Given the description of an element on the screen output the (x, y) to click on. 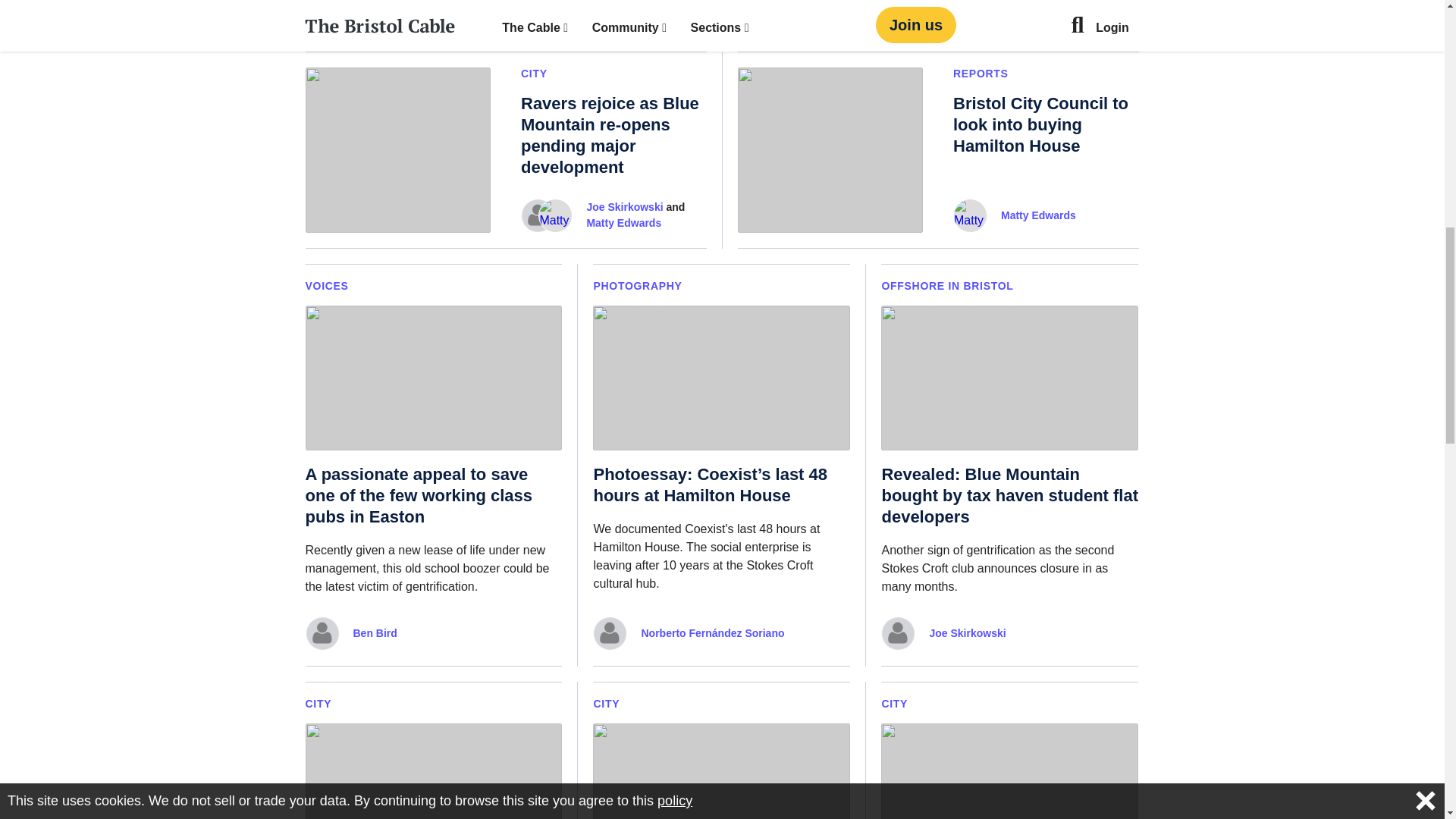
Joe Skirkowski (624, 207)
Hannah Vickers (392, 5)
Henry Palmer (603, 5)
